Given the description of an element on the screen output the (x, y) to click on. 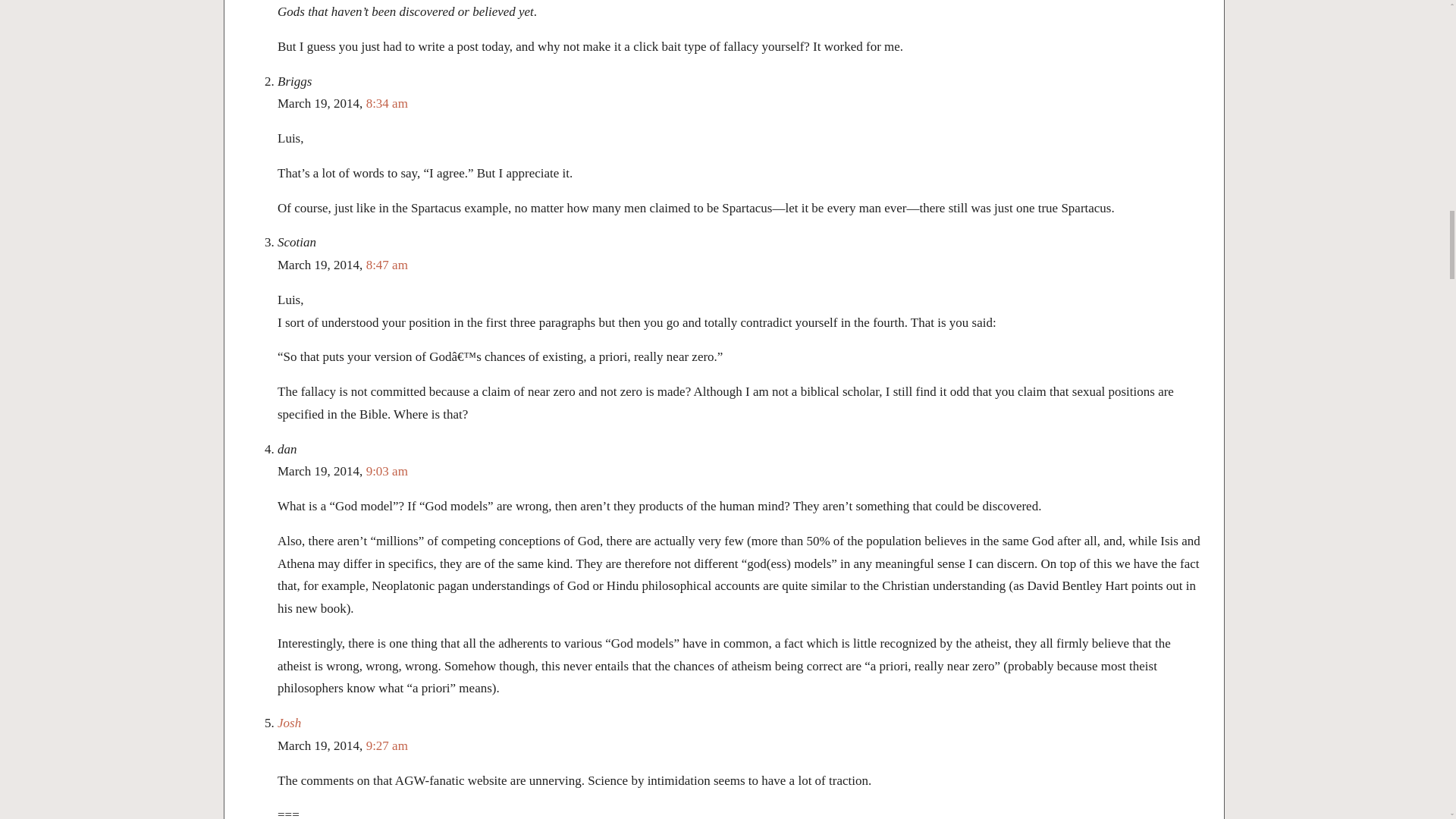
8:34 am (386, 103)
